Given the description of an element on the screen output the (x, y) to click on. 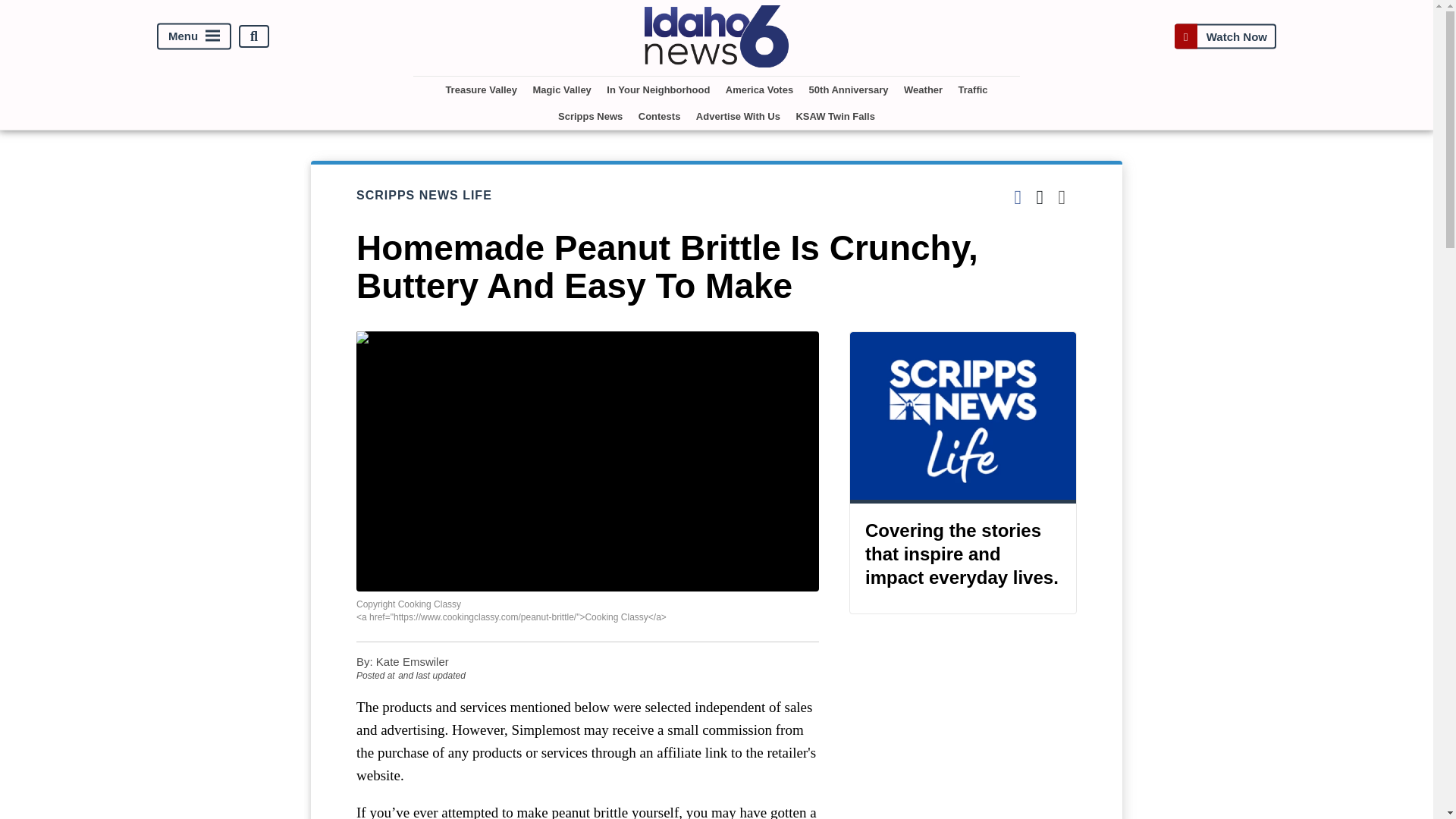
Watch Now (1224, 36)
Menu (194, 36)
